Given the description of an element on the screen output the (x, y) to click on. 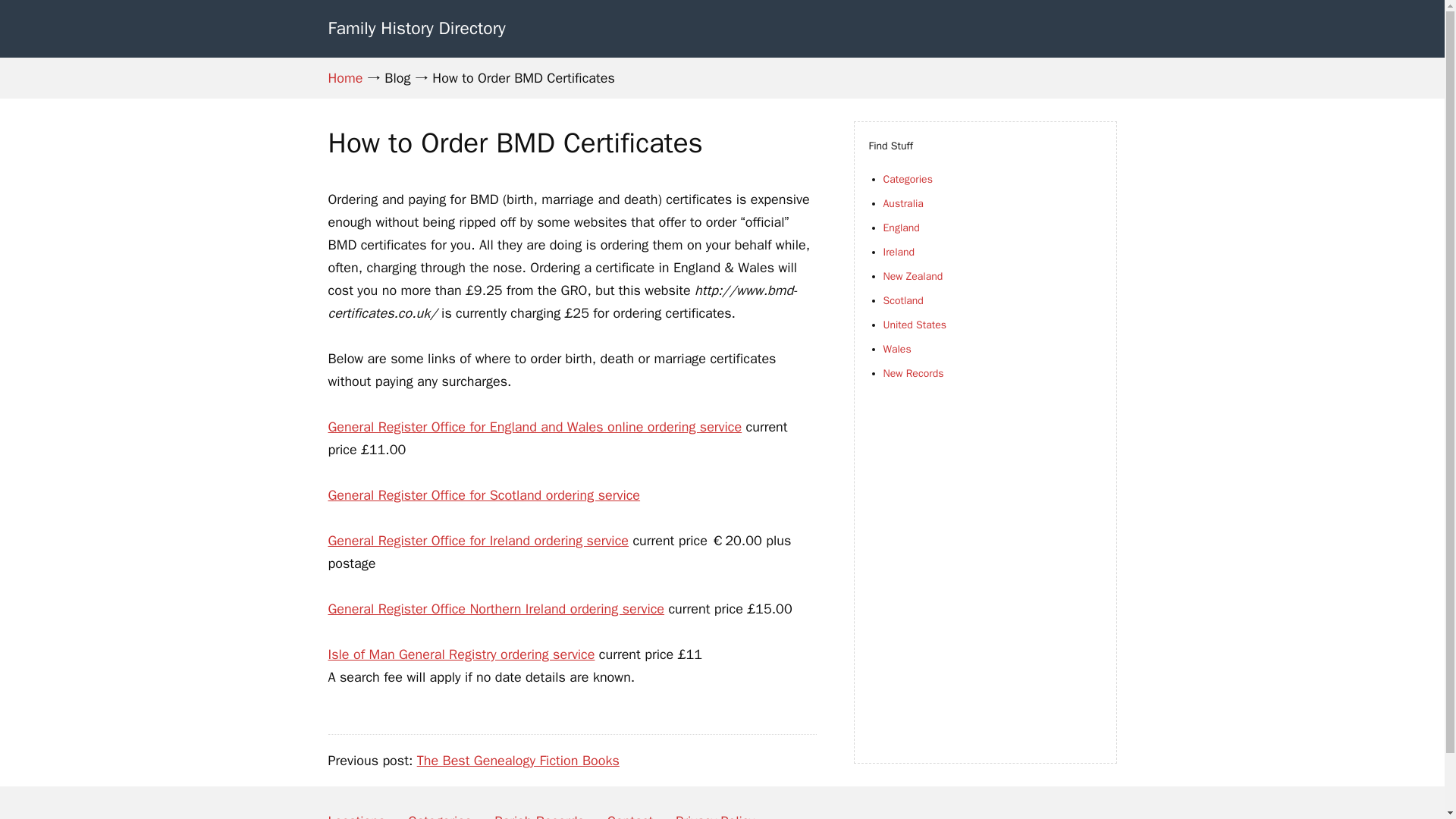
New Zealand (912, 276)
General Register Office Northern Ireland ordering service (495, 608)
Blog (397, 77)
Family History Directory (416, 28)
Categories (439, 809)
Contact (629, 809)
Ireland (898, 251)
General Register Office for Scotland ordering service (483, 494)
General Register Office for Ireland ordering service (477, 540)
Isle of Man General Registry ordering service (460, 654)
